Given the description of an element on the screen output the (x, y) to click on. 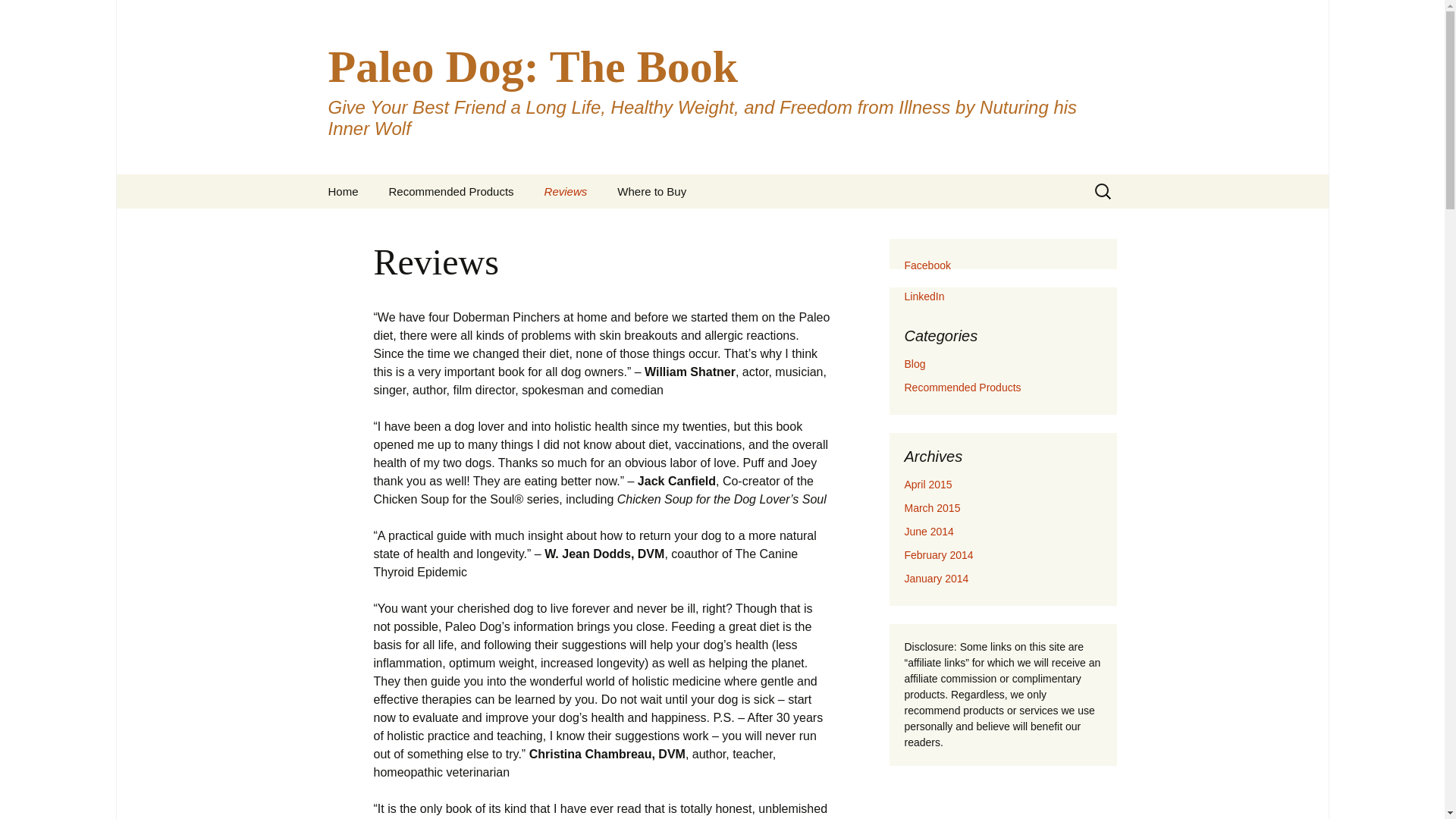
February 2014 (938, 554)
Where to Buy (651, 191)
April 2015 (928, 484)
Recommended Products (962, 387)
Search (18, 15)
LinkedIn (923, 296)
Recommended Products (451, 191)
Skip to content (353, 183)
Reviews (565, 191)
